Given the description of an element on the screen output the (x, y) to click on. 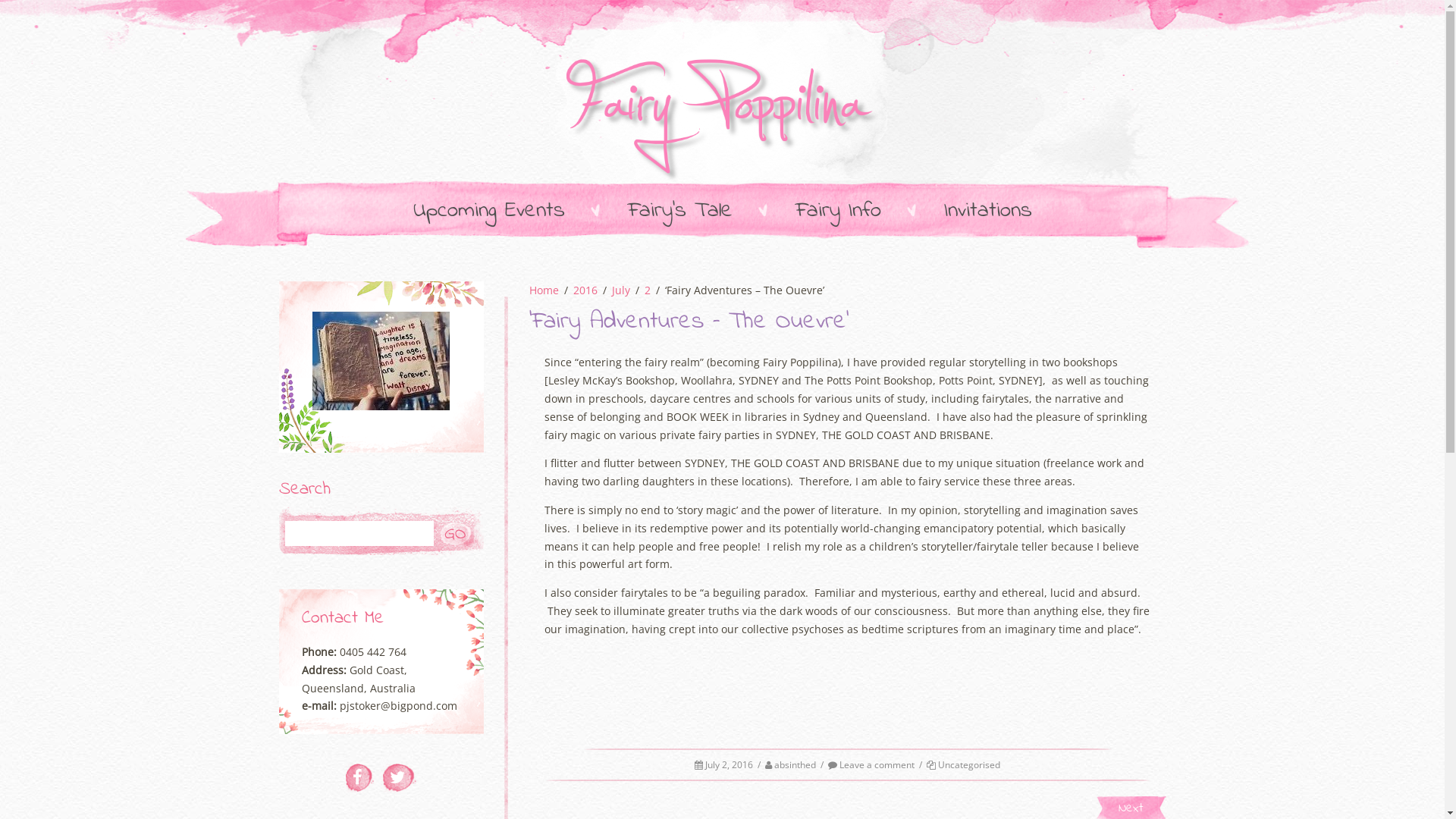
2016 Element type: text (585, 289)
Go Element type: text (456, 533)
Uncategorised Element type: text (969, 764)
Leave a comment Element type: text (871, 764)
Find us on twitter Element type: hover (399, 777)
Upcoming Events Element type: text (488, 211)
Invitations Element type: text (987, 211)
July 2, 2016 Element type: text (729, 764)
Find us on facebook Element type: hover (359, 777)
2 Element type: text (647, 289)
Home Element type: text (543, 289)
July Element type: text (620, 289)
Fairy Info Element type: text (837, 211)
absinthed Element type: text (794, 764)
